Given the description of an element on the screen output the (x, y) to click on. 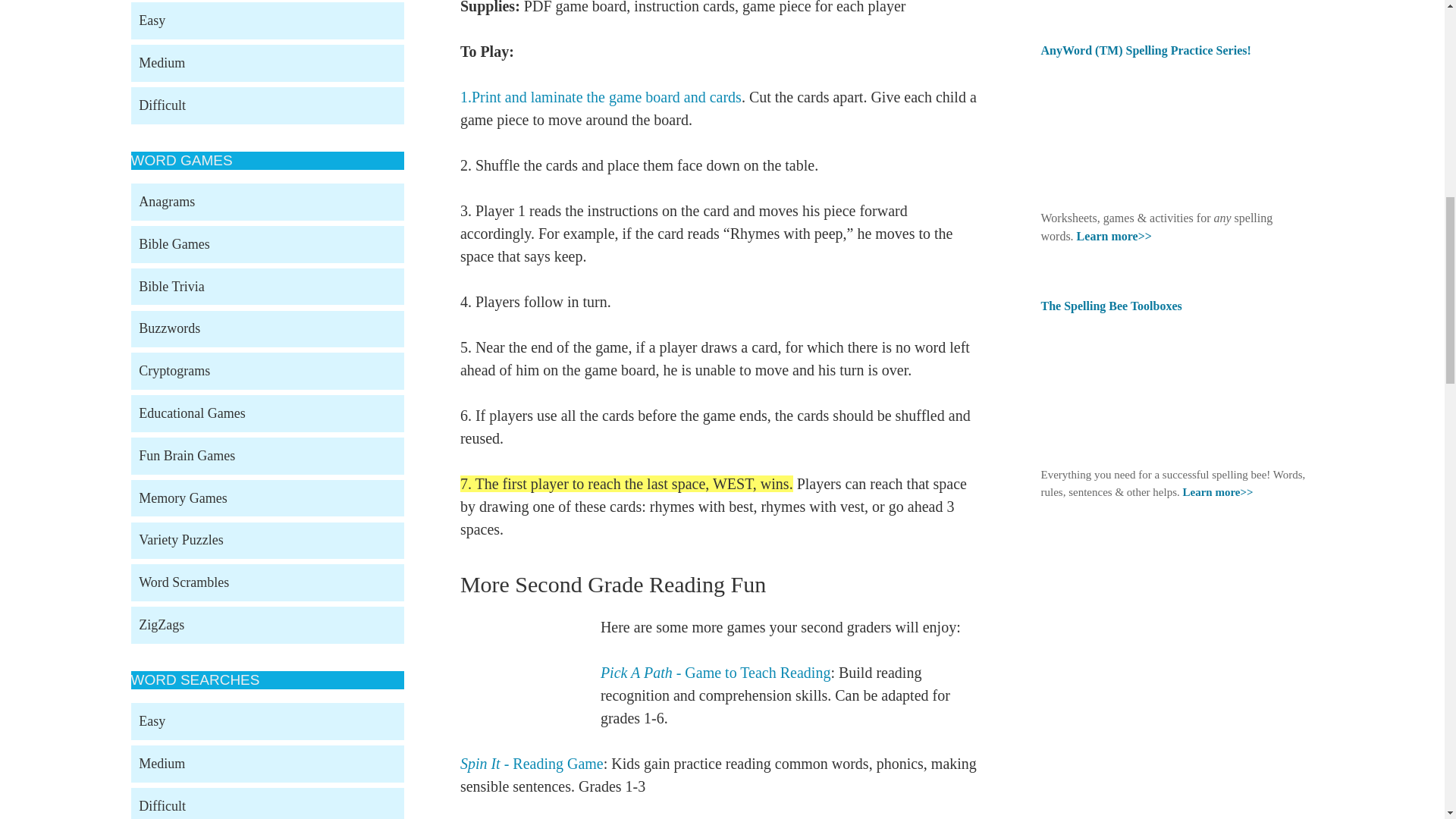
Buzzwords (267, 329)
Bible Games (267, 244)
girl jogging along a path (519, 674)
Anagrams (267, 201)
Go to Games to Teach Reading and Reading Comprehension Games (529, 728)
Pick A Path - Game to Teach Reading (715, 672)
Difficult (267, 105)
Spin It - Reading Game (532, 763)
Easy (267, 20)
1.Print and laminate the game board and cards (600, 96)
